Given the description of an element on the screen output the (x, y) to click on. 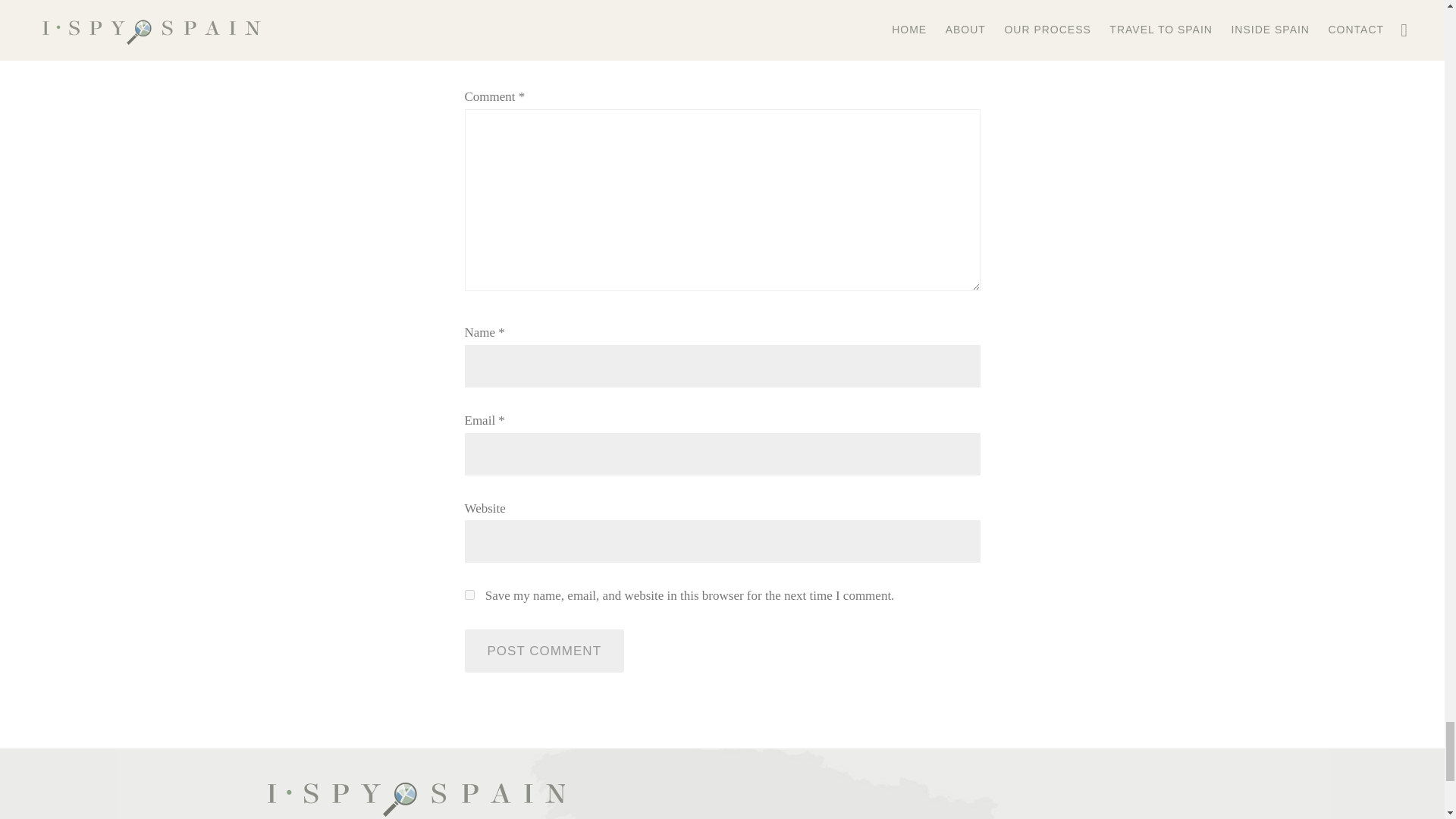
yes (469, 594)
Post Comment (544, 650)
Post Comment (544, 650)
